Given the description of an element on the screen output the (x, y) to click on. 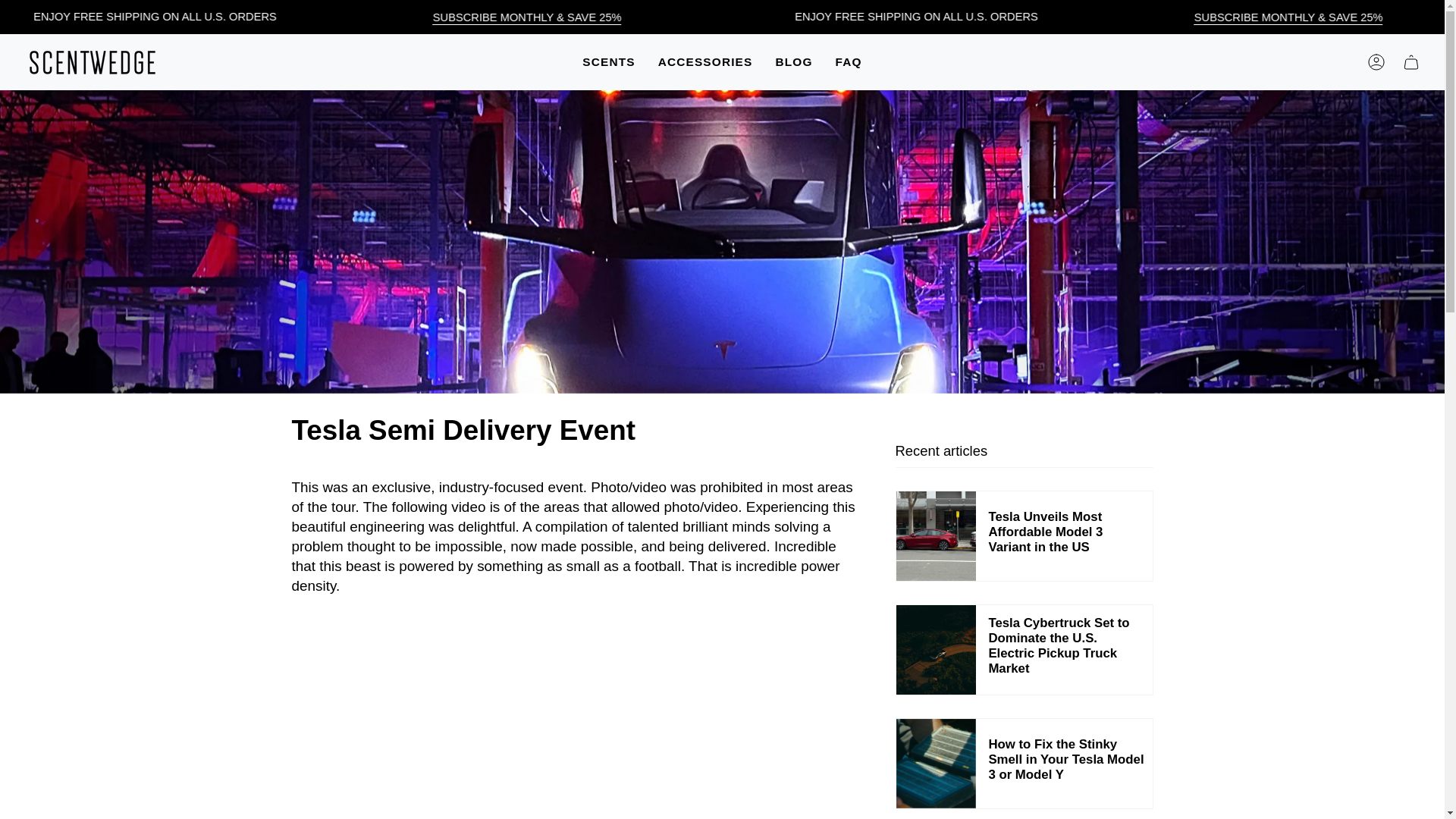
SCENTS (608, 62)
BLOG (793, 62)
Cart (1410, 62)
YouTube video player (573, 735)
Scent Of The Month (591, 18)
ACCESSORIES (705, 62)
CART (1410, 62)
How to Fix the Stinky Smell in Your Tesla Model 3 or Model Y (1024, 763)
My Account (1375, 62)
FAQ (848, 62)
Tesla Unveils Most Affordable Model 3 Variant in the US (1024, 535)
ACCOUNT (1375, 62)
